Given the description of an element on the screen output the (x, y) to click on. 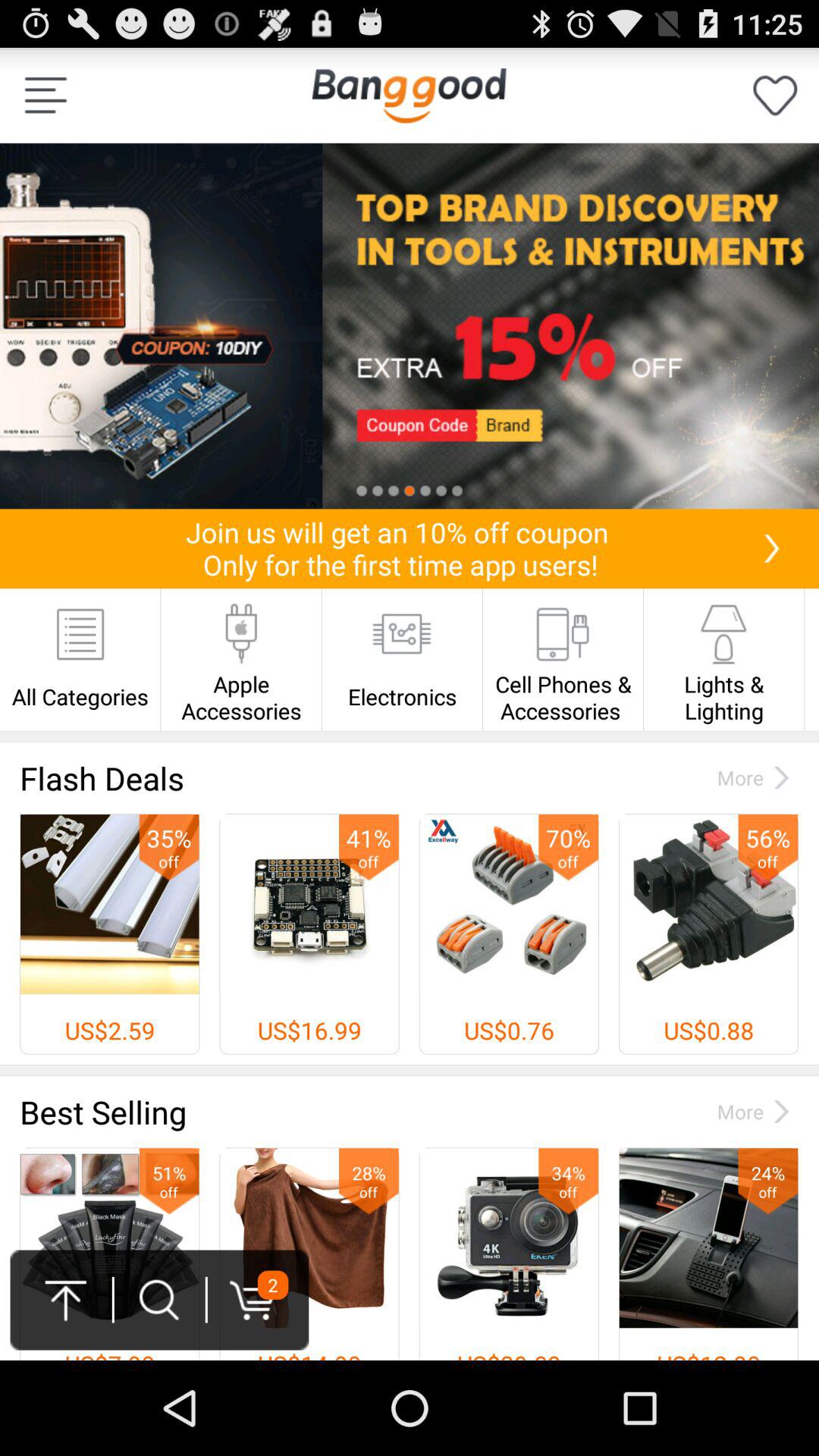
favorite one (775, 95)
